Given the description of an element on the screen output the (x, y) to click on. 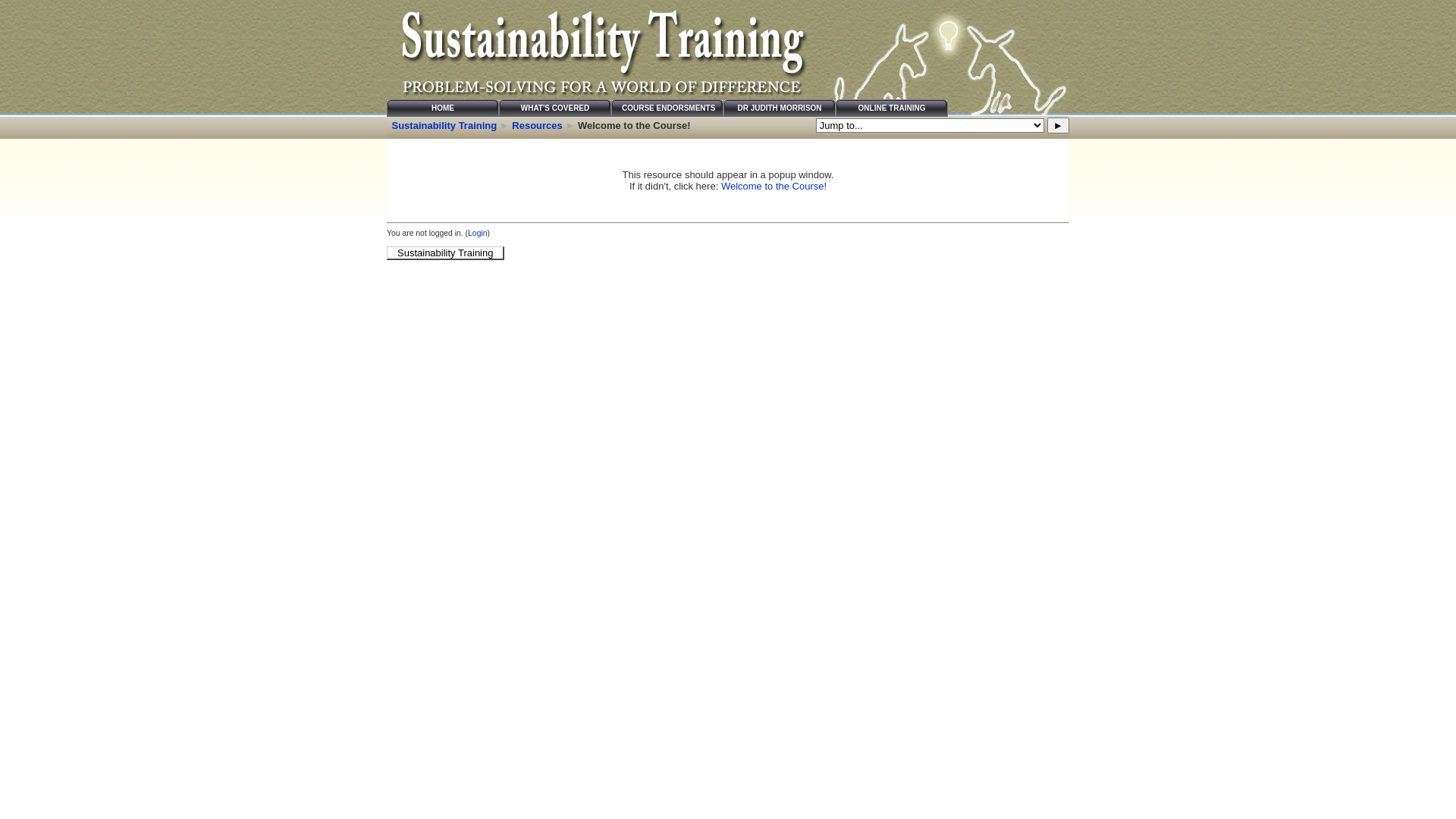
ONLINE TRAINING Element type: text (891, 107)
DR JUDITH MORRISON Element type: text (779, 107)
Sustainability Training Element type: text (443, 125)
COURSE ENDORSMENTS Element type: text (667, 107)
Resources Element type: text (536, 125)
Sustainability Training Element type: text (445, 252)
WHAT'S COVERED Element type: text (555, 107)
Welcome to the Course! Element type: text (773, 185)
Login Element type: text (476, 233)
HOME Element type: text (442, 107)
